Given the description of an element on the screen output the (x, y) to click on. 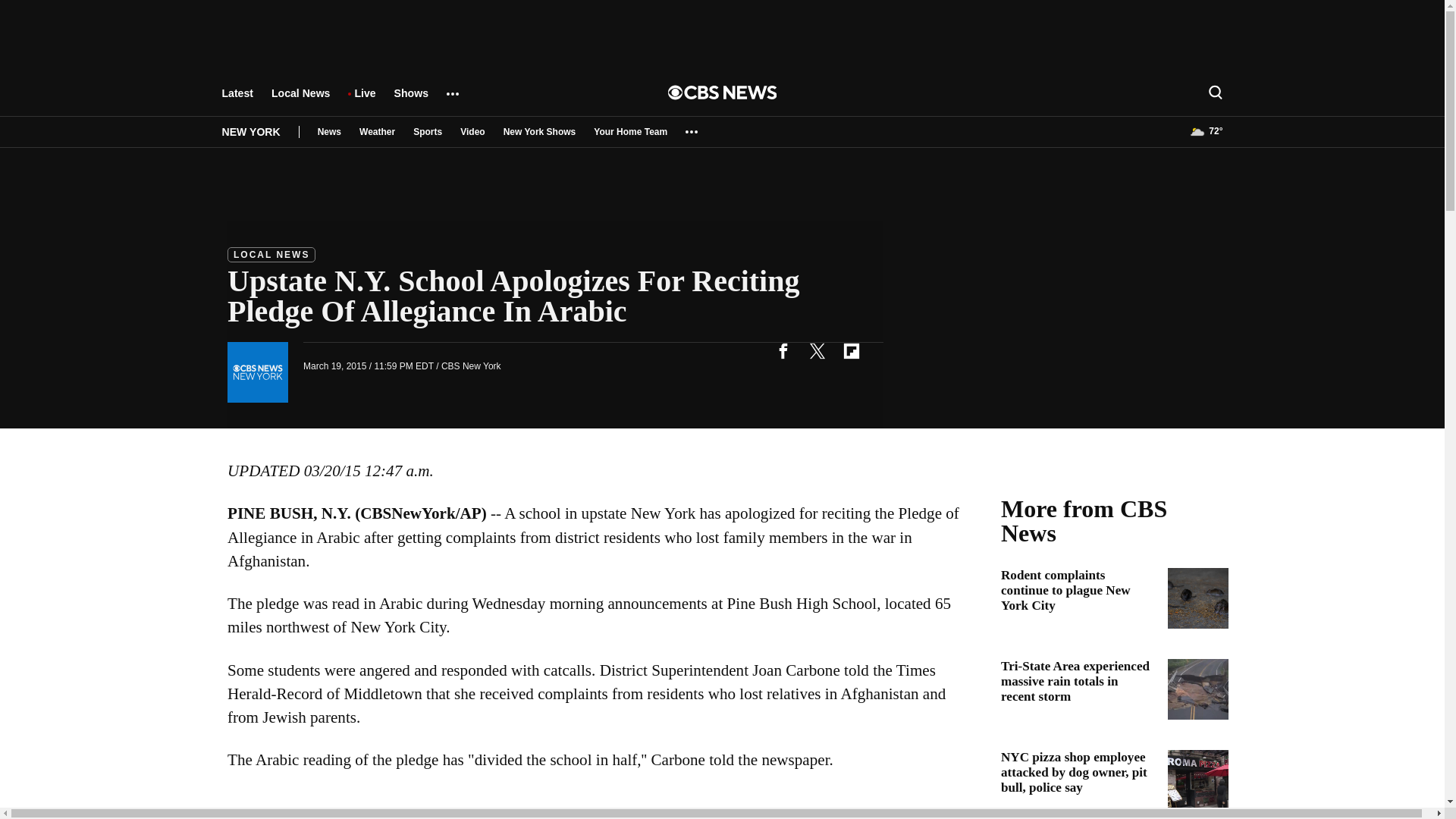
Latest (236, 100)
facebook (782, 350)
flipboard (850, 350)
Local News (300, 100)
twitter (816, 350)
